Given the description of an element on the screen output the (x, y) to click on. 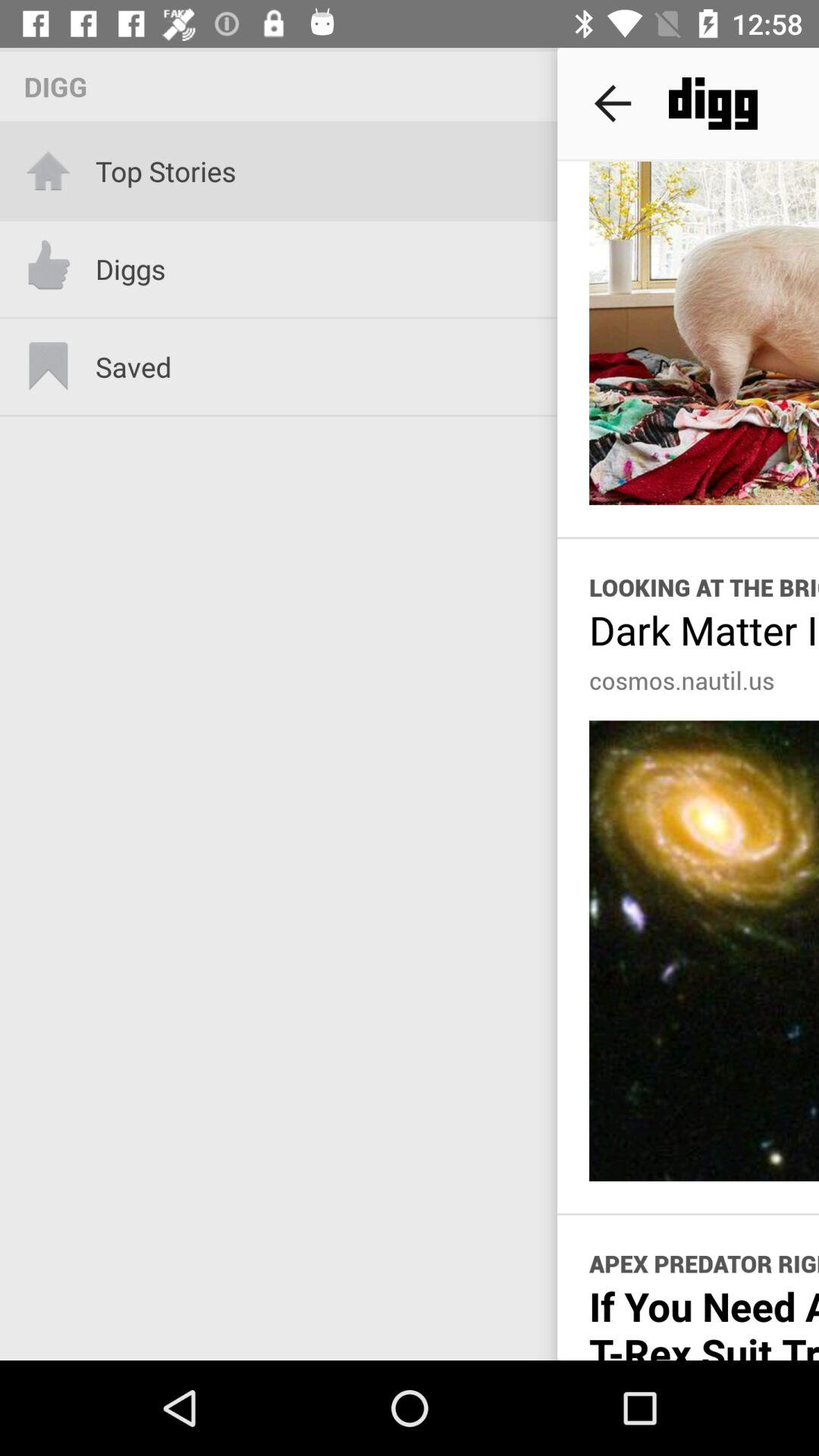
turn off dark matter is icon (704, 629)
